Given the description of an element on the screen output the (x, y) to click on. 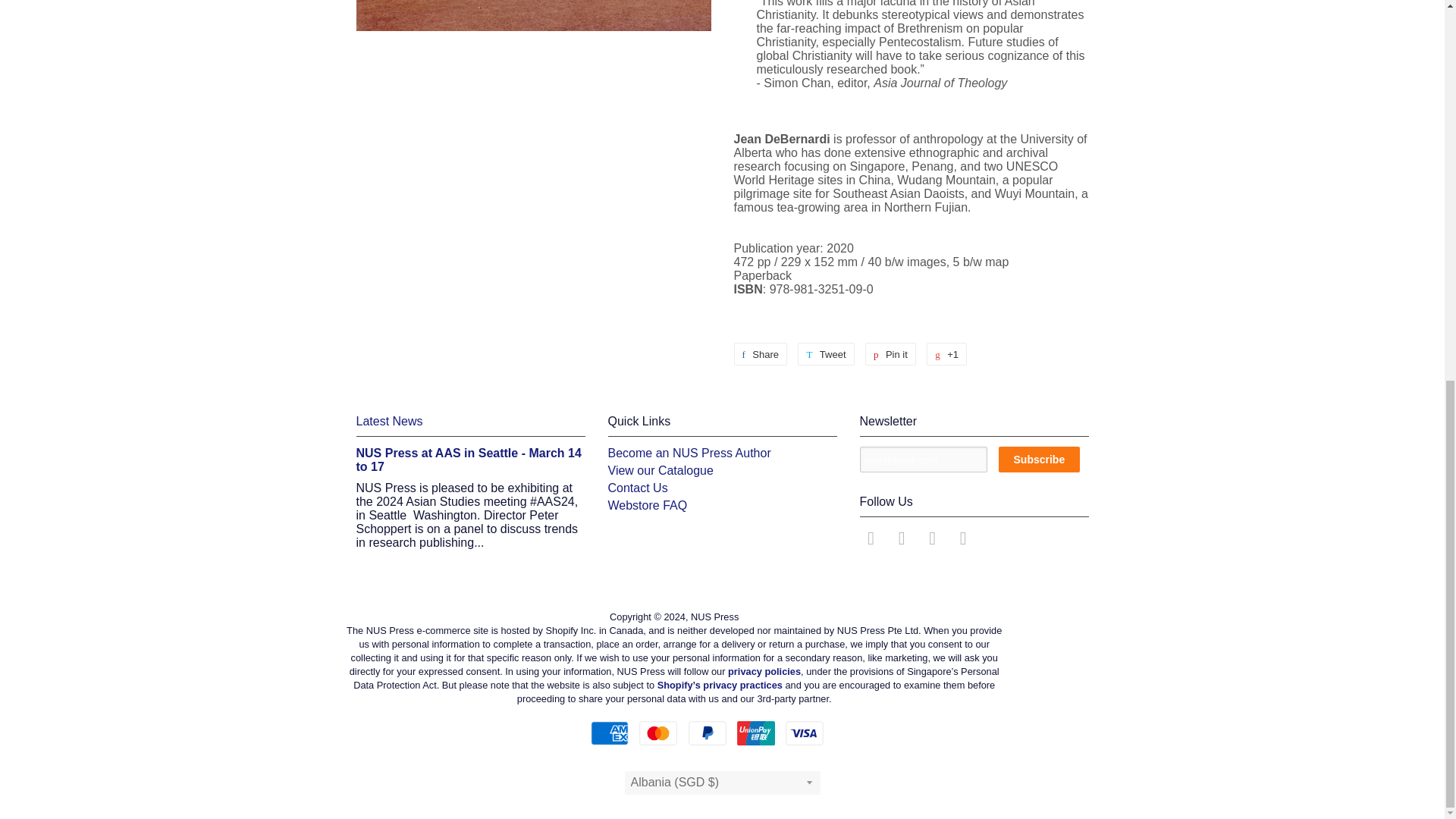
Follow us on Facebook! (873, 541)
Follow us on Twitter! (903, 541)
Become an NUS Press Author (689, 452)
Follow us on Instagram! (934, 541)
Subscribe (1038, 459)
Contact Us (638, 487)
View our Catalogue (660, 470)
Webstore FAQ (647, 504)
Follow us on YouTube! (964, 541)
